Given the description of an element on the screen output the (x, y) to click on. 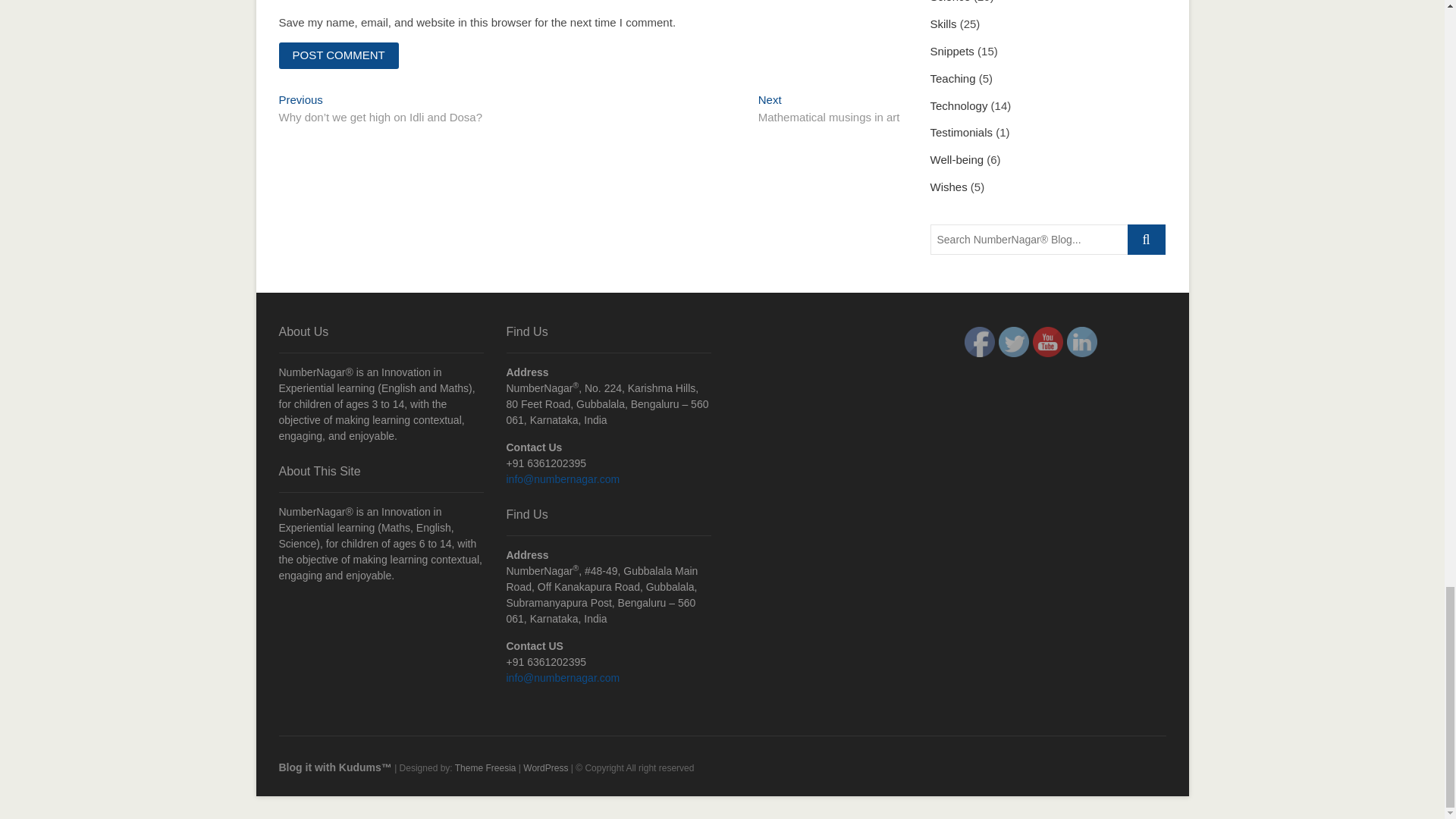
Twitter (1012, 341)
Facebook (978, 341)
Post Comment (338, 55)
YouTube (1047, 341)
Post Comment (338, 55)
Theme Freesia (485, 767)
LinkedIn (828, 109)
WordPress (1080, 341)
